Given the description of an element on the screen output the (x, y) to click on. 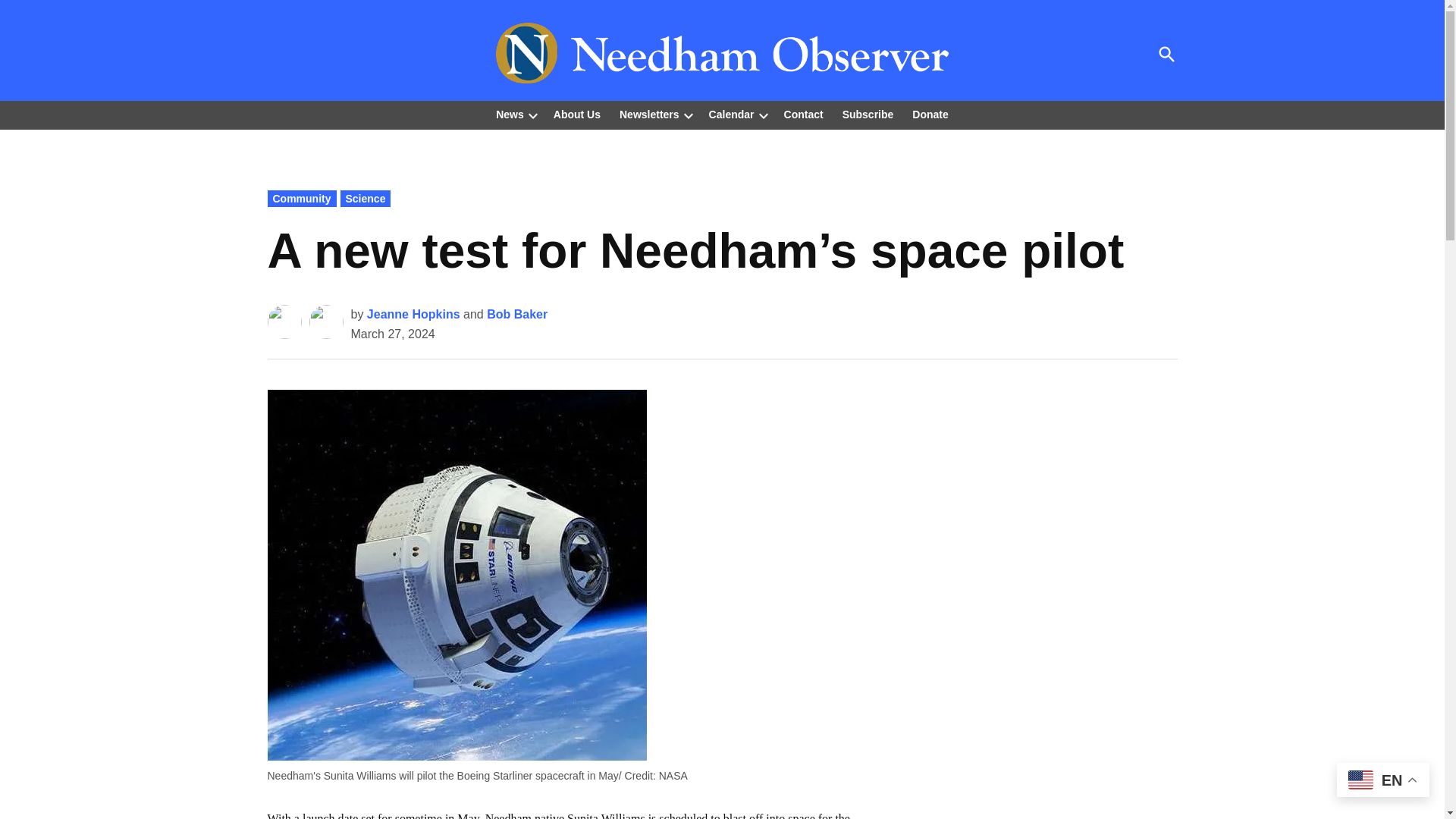
News (510, 114)
About Us (577, 114)
Open dropdown menu (532, 115)
Open dropdown menu (688, 115)
Newsletters (645, 114)
Needham Observer (1173, 64)
